Given the description of an element on the screen output the (x, y) to click on. 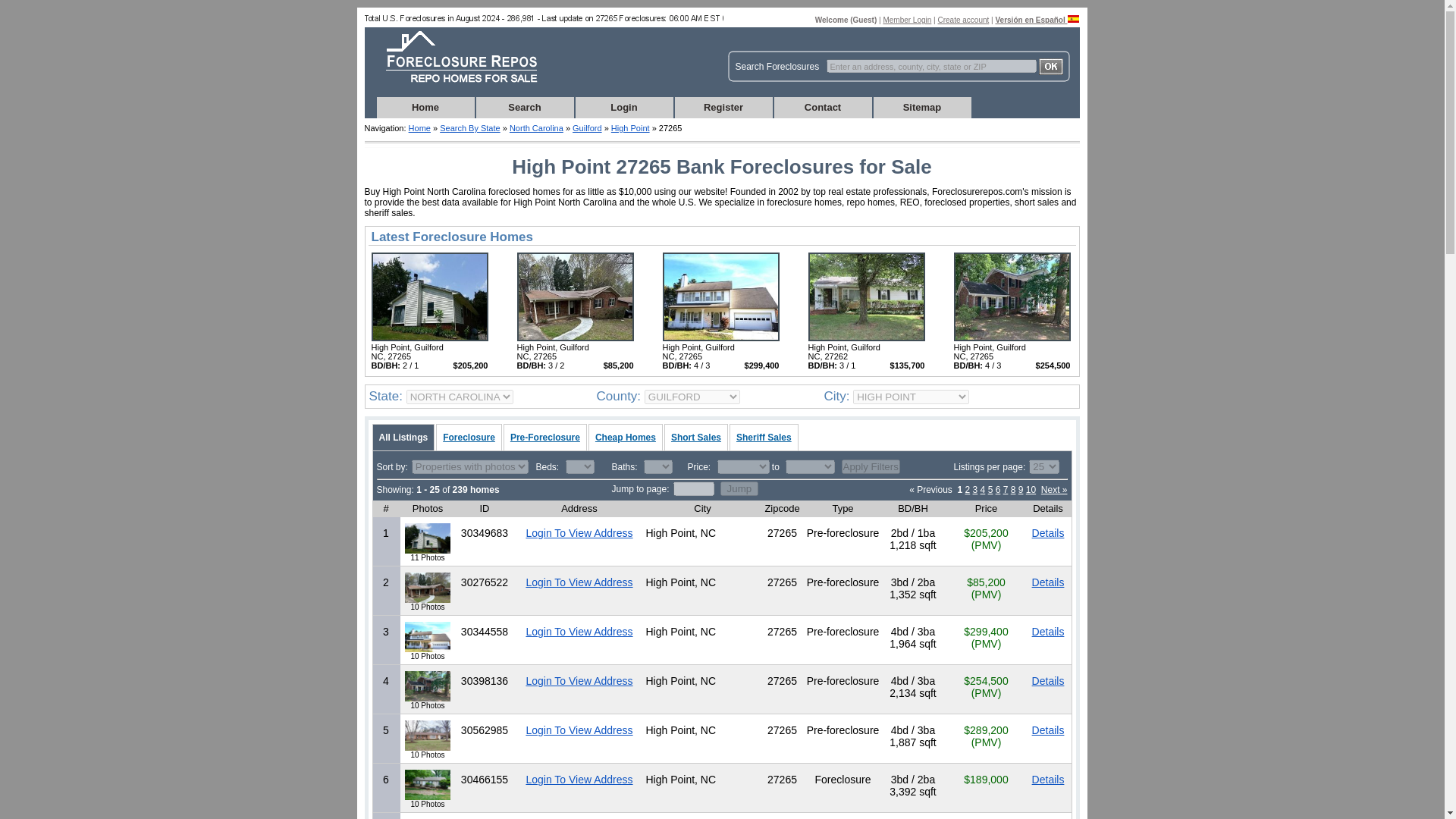
North Carolina (536, 127)
Search By State (469, 127)
Foreclosure (468, 437)
Cheap Homes (625, 437)
Sheriff Sales (763, 437)
Jump (739, 488)
High Point (574, 338)
ForeclosureRepos.com (419, 127)
Contact (821, 107)
Enter an address, county, city, state or ZIP (931, 65)
